Given the description of an element on the screen output the (x, y) to click on. 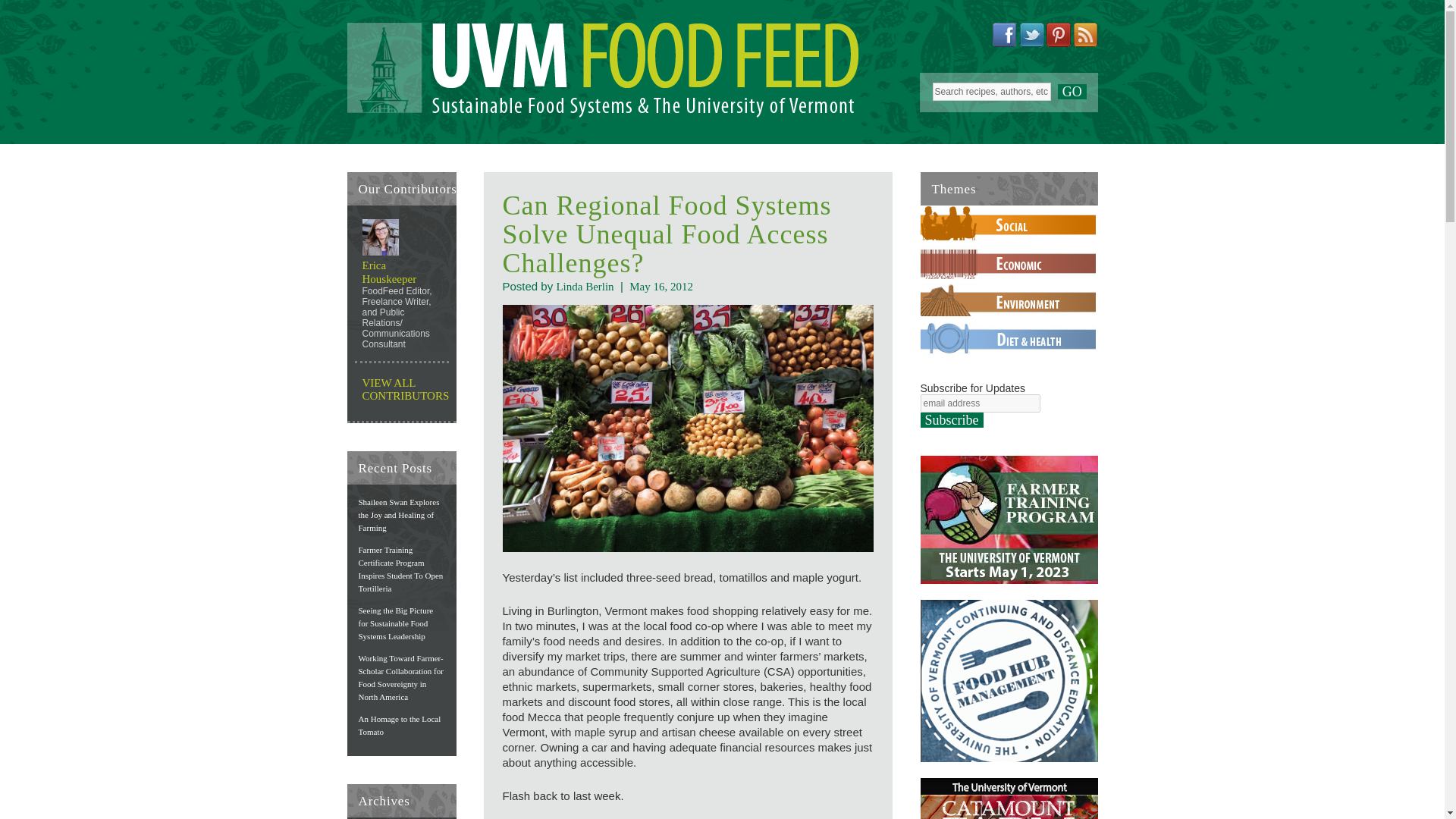
View all posts by Linda Berlin (584, 286)
Subscribe (952, 419)
May 16, 2012 (660, 286)
veggiestand.color (687, 428)
Linda Berlin (584, 286)
GO (1072, 91)
Search recipes, authors, etc... (992, 91)
8:00 am (660, 286)
GO (1072, 91)
